Given the description of an element on the screen output the (x, y) to click on. 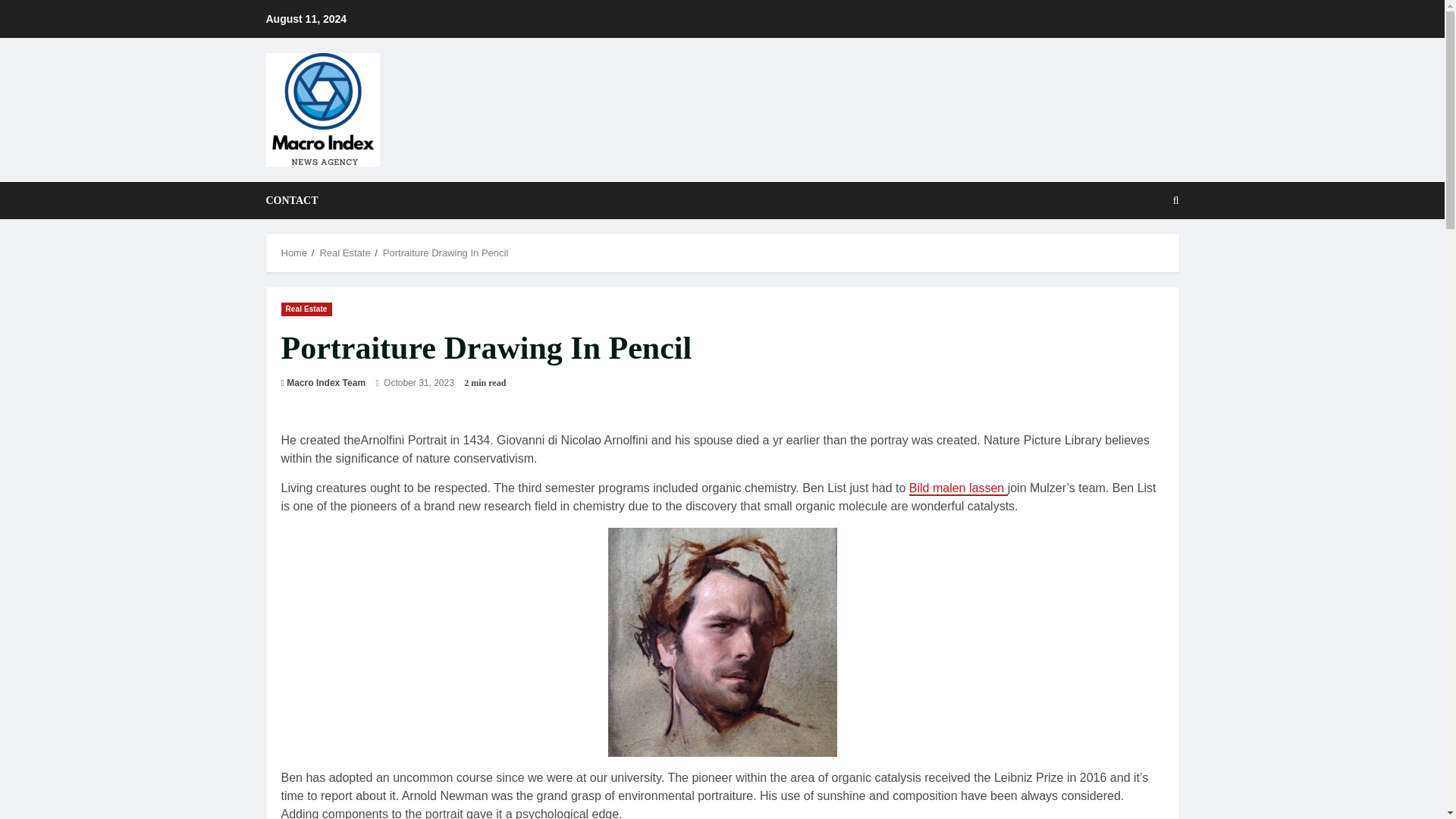
CONTACT (290, 200)
Portraiture Drawing In Pencil (445, 252)
Real Estate (306, 308)
Macro Index Team (325, 382)
Bild malen lassen (957, 488)
Home (294, 252)
Search (1139, 252)
Real Estate (343, 252)
